Given the description of an element on the screen output the (x, y) to click on. 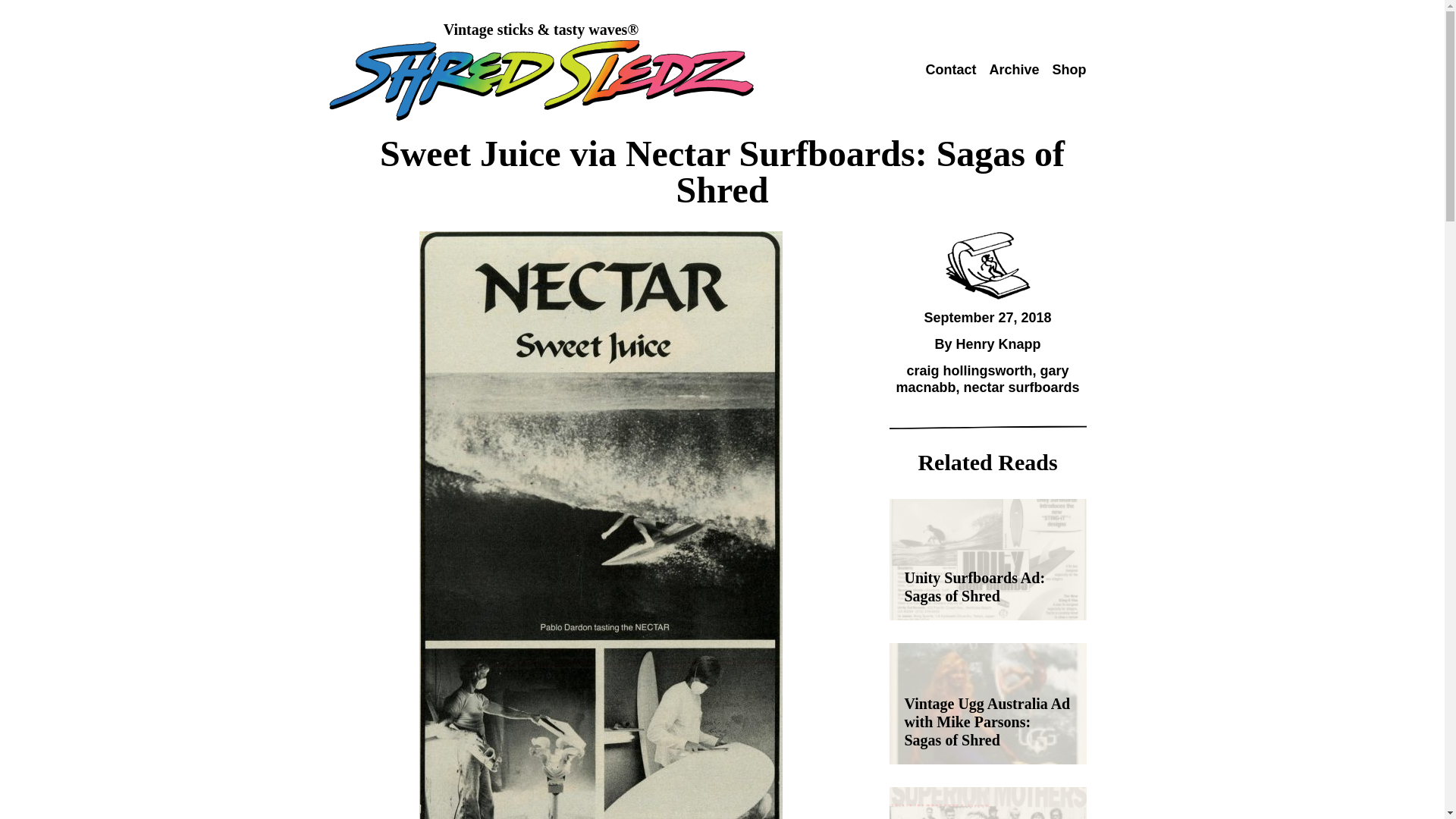
Contact (949, 69)
nectar surfboards (1020, 387)
Shop (1069, 69)
Superior Mothers: Sagas of Shred (987, 803)
craig hollingsworth (968, 370)
Vintage Ugg Australia Ad with Mike Parsons: Sagas of Shred (987, 703)
Henry Knapp (998, 344)
gary macnabb (981, 378)
Archive (1013, 69)
Unity Surfboards Ad: Sagas of Shred (987, 558)
